Given the description of an element on the screen output the (x, y) to click on. 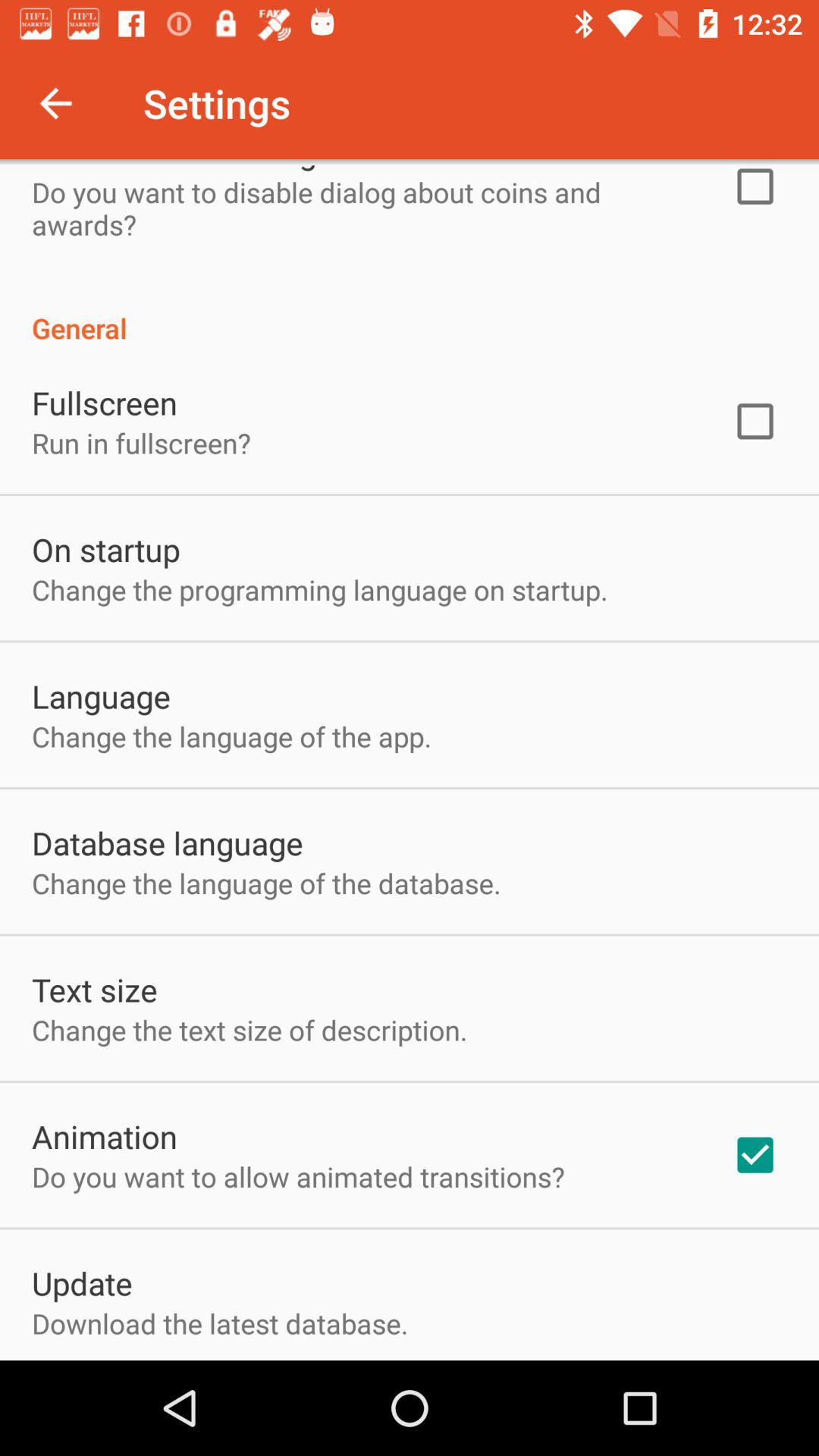
open download the latest app (219, 1323)
